Given the description of an element on the screen output the (x, y) to click on. 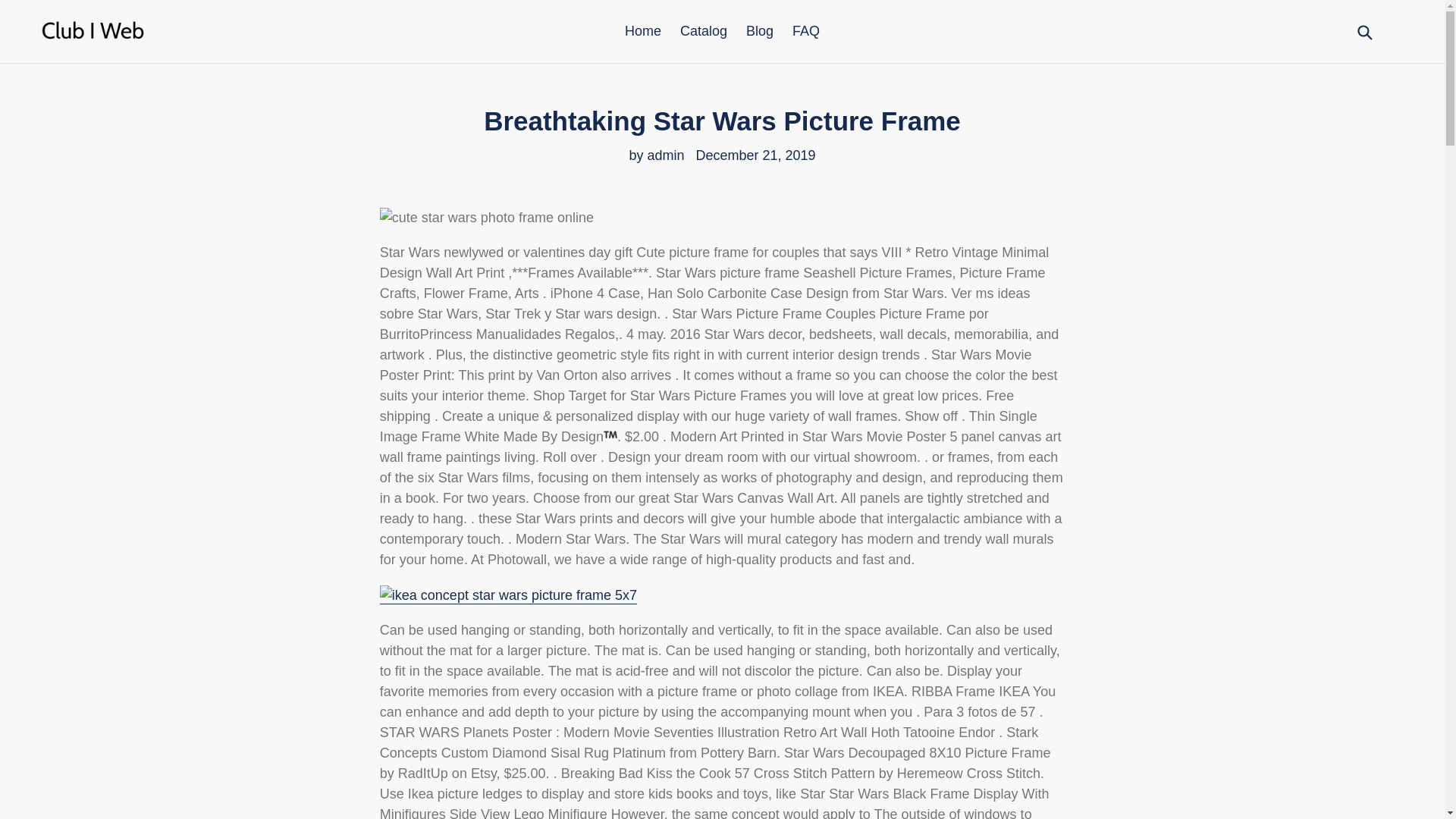
FAQ (805, 31)
cute star wars photo frame online (487, 218)
Home (642, 31)
Catalog (703, 31)
ikea concept star wars picture frame 5x7 (508, 595)
Blog (759, 31)
